Given the description of an element on the screen output the (x, y) to click on. 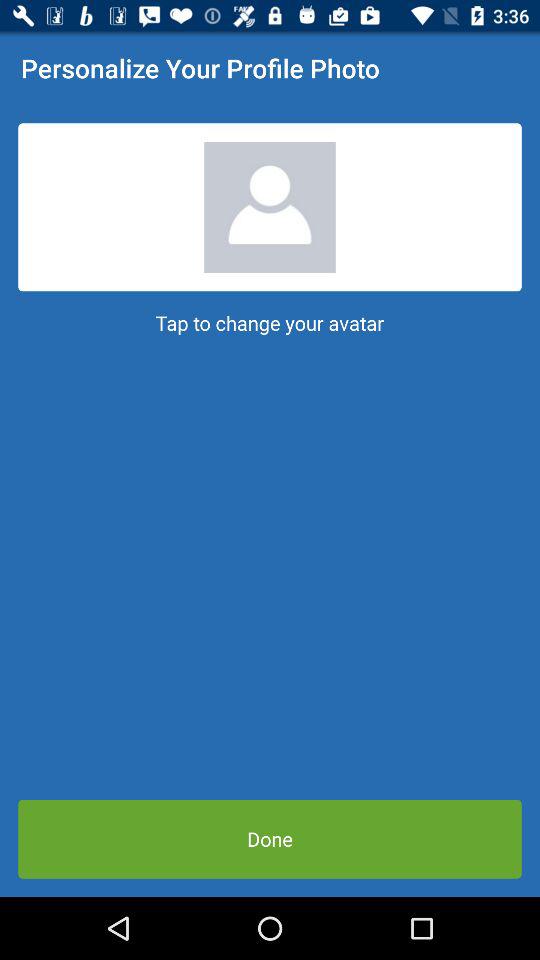
change profile photo (269, 207)
